Given the description of an element on the screen output the (x, y) to click on. 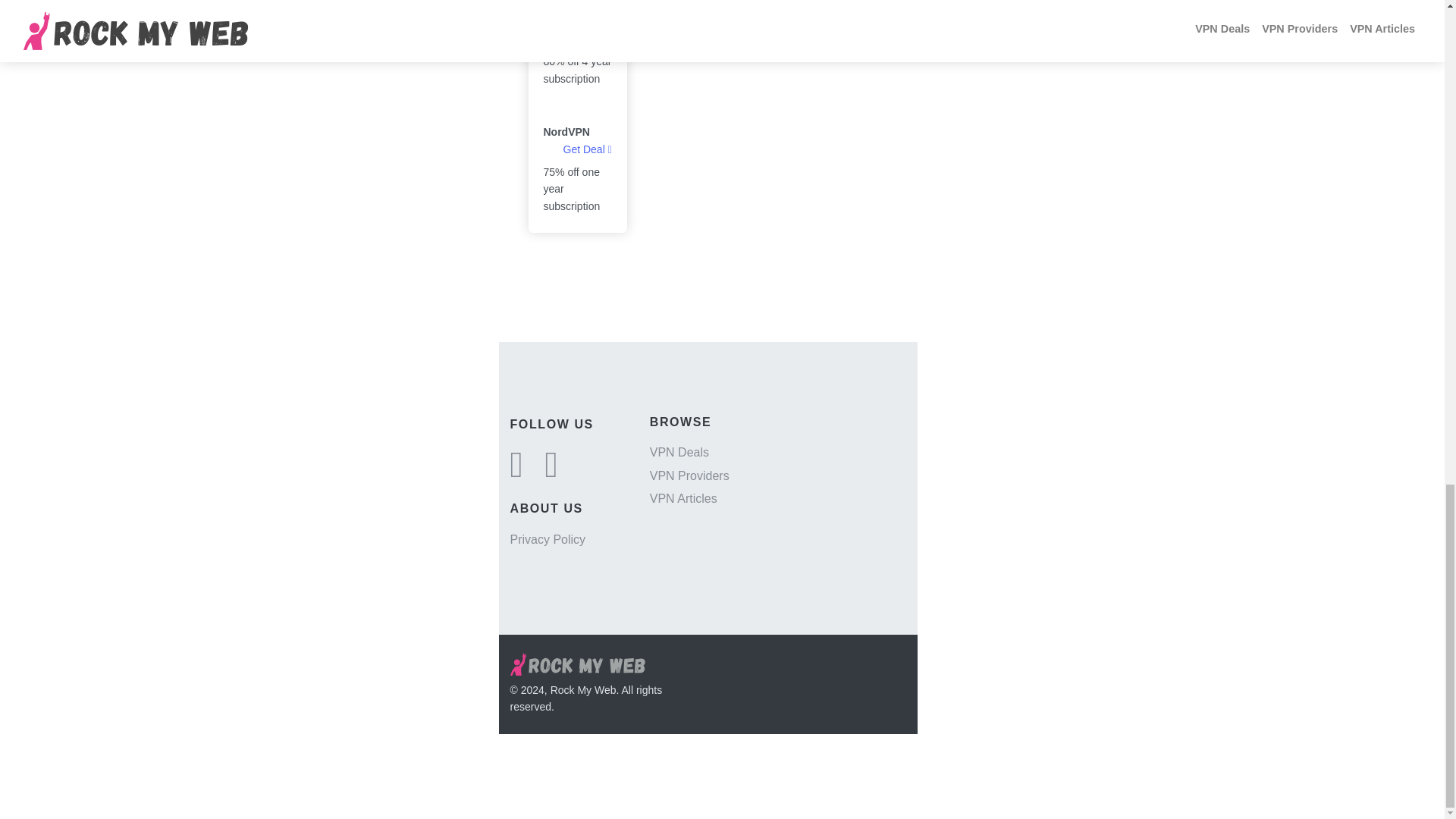
Get Deal (586, 38)
twitter (515, 472)
facebook (550, 472)
Privacy Policy (547, 539)
VPN Articles (683, 498)
VPN Providers (689, 475)
VPN Deals (679, 451)
Get Deal (586, 149)
